Given the description of an element on the screen output the (x, y) to click on. 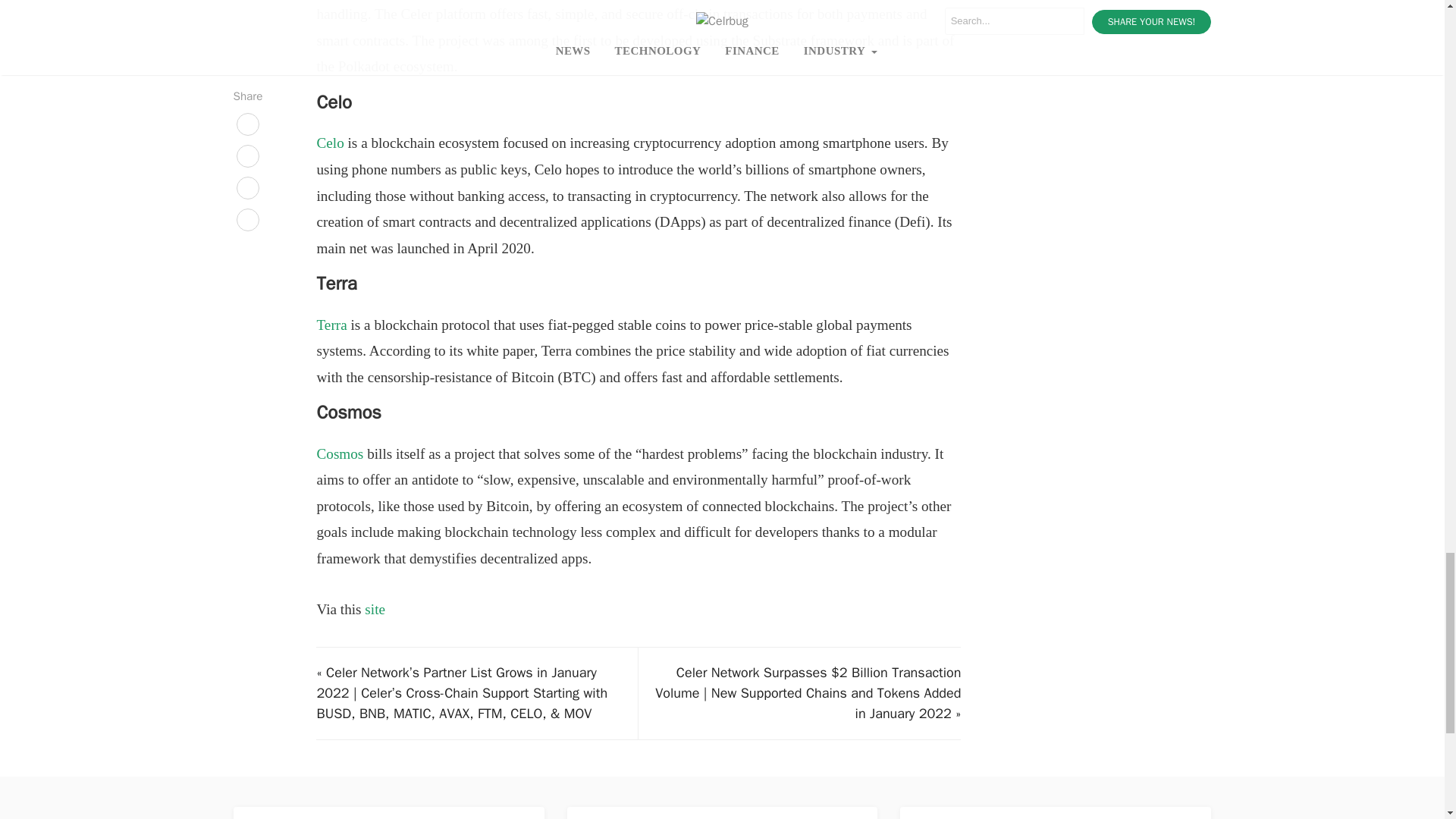
site (375, 609)
Cosmos (338, 453)
Terra (330, 324)
Celo (329, 142)
